Given the description of an element on the screen output the (x, y) to click on. 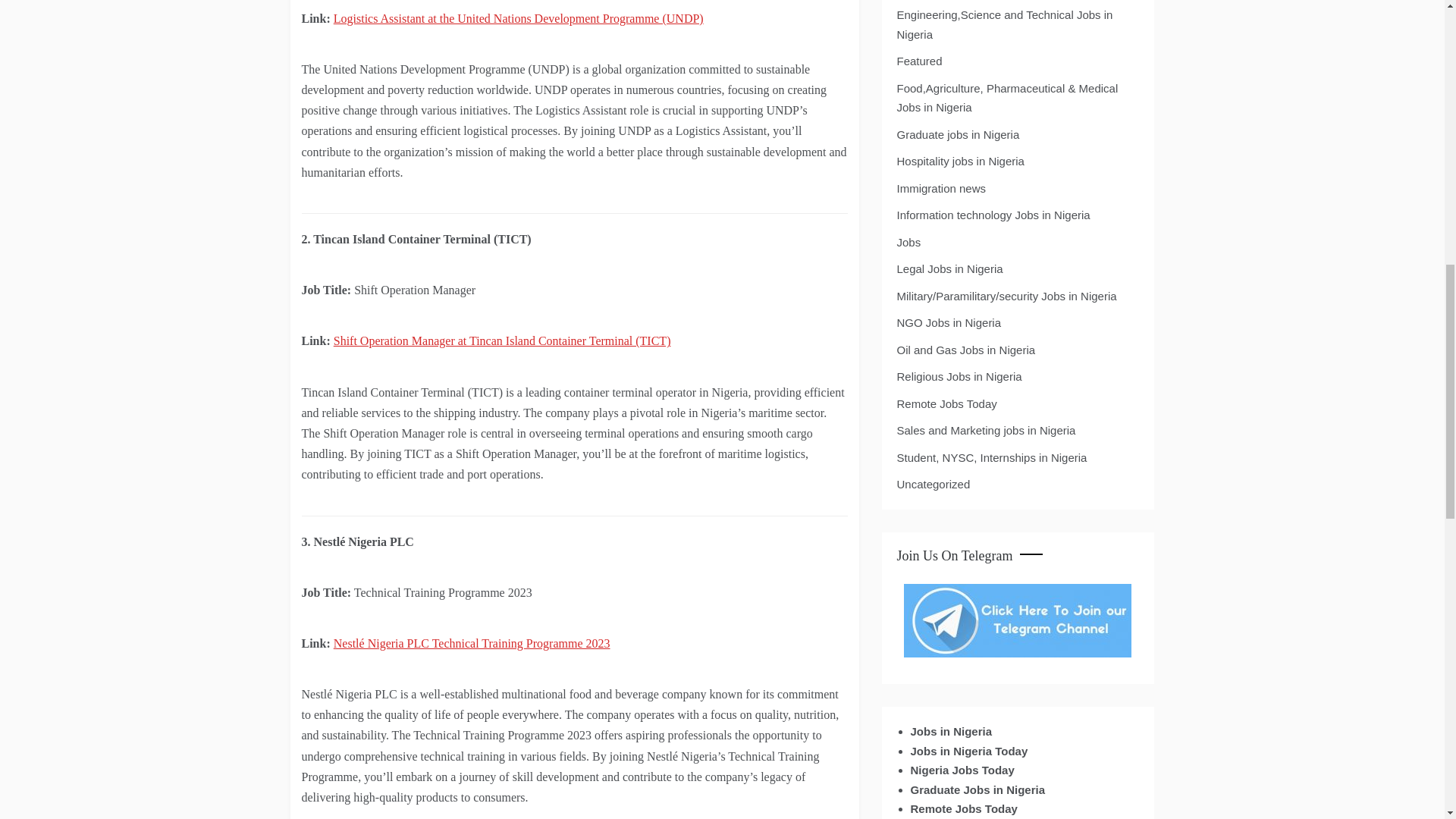
Graduate jobs in Nigeria (957, 134)
Featured (919, 61)
Hospitality jobs in Nigeria (959, 161)
Information technology Jobs in Nigeria (992, 215)
Engineering,Science and Technical Jobs in Nigeria (1015, 24)
Immigration news (940, 189)
